Given the description of an element on the screen output the (x, y) to click on. 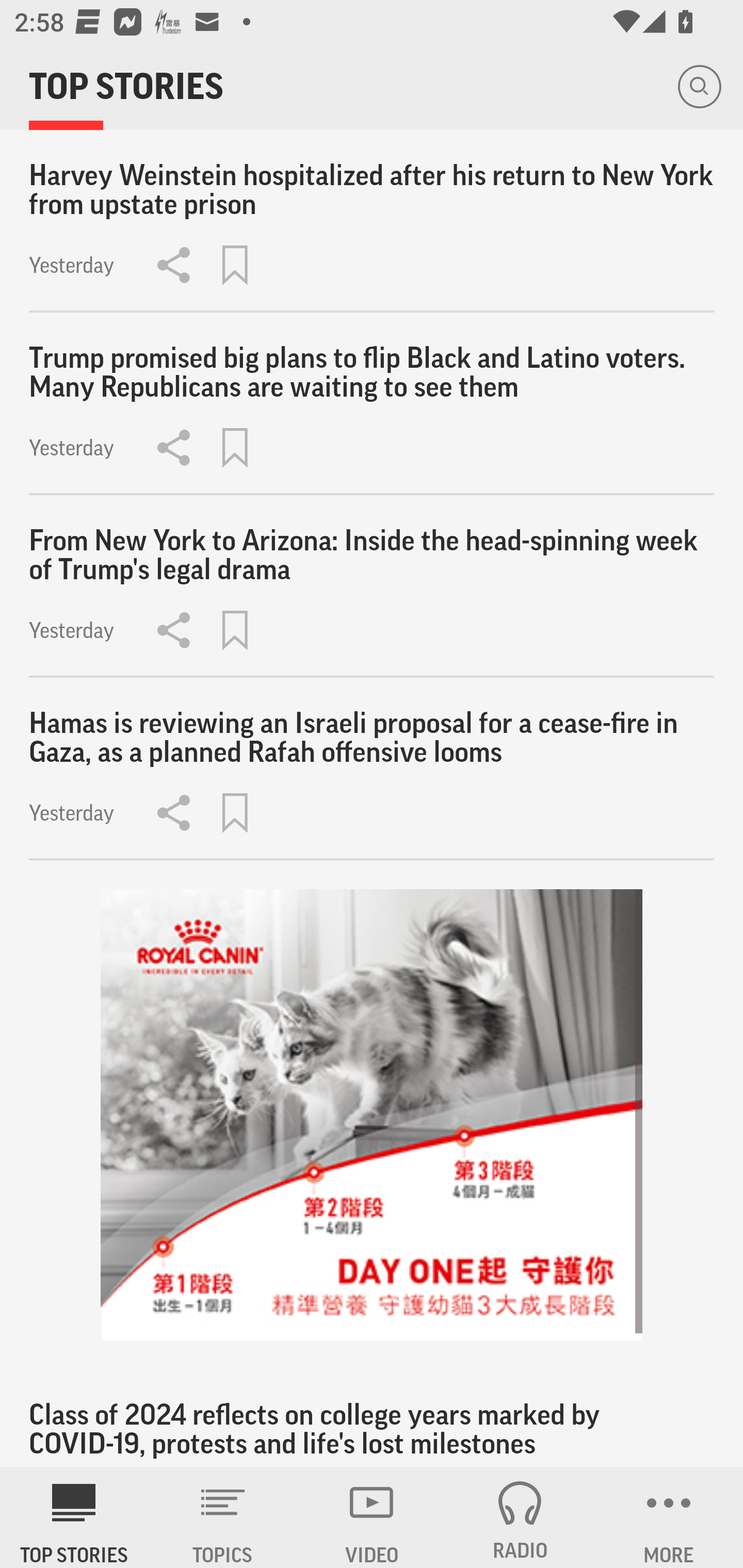
AP News TOP STORIES (74, 1517)
TOPICS (222, 1517)
VIDEO (371, 1517)
RADIO (519, 1517)
MORE (668, 1517)
